Given the description of an element on the screen output the (x, y) to click on. 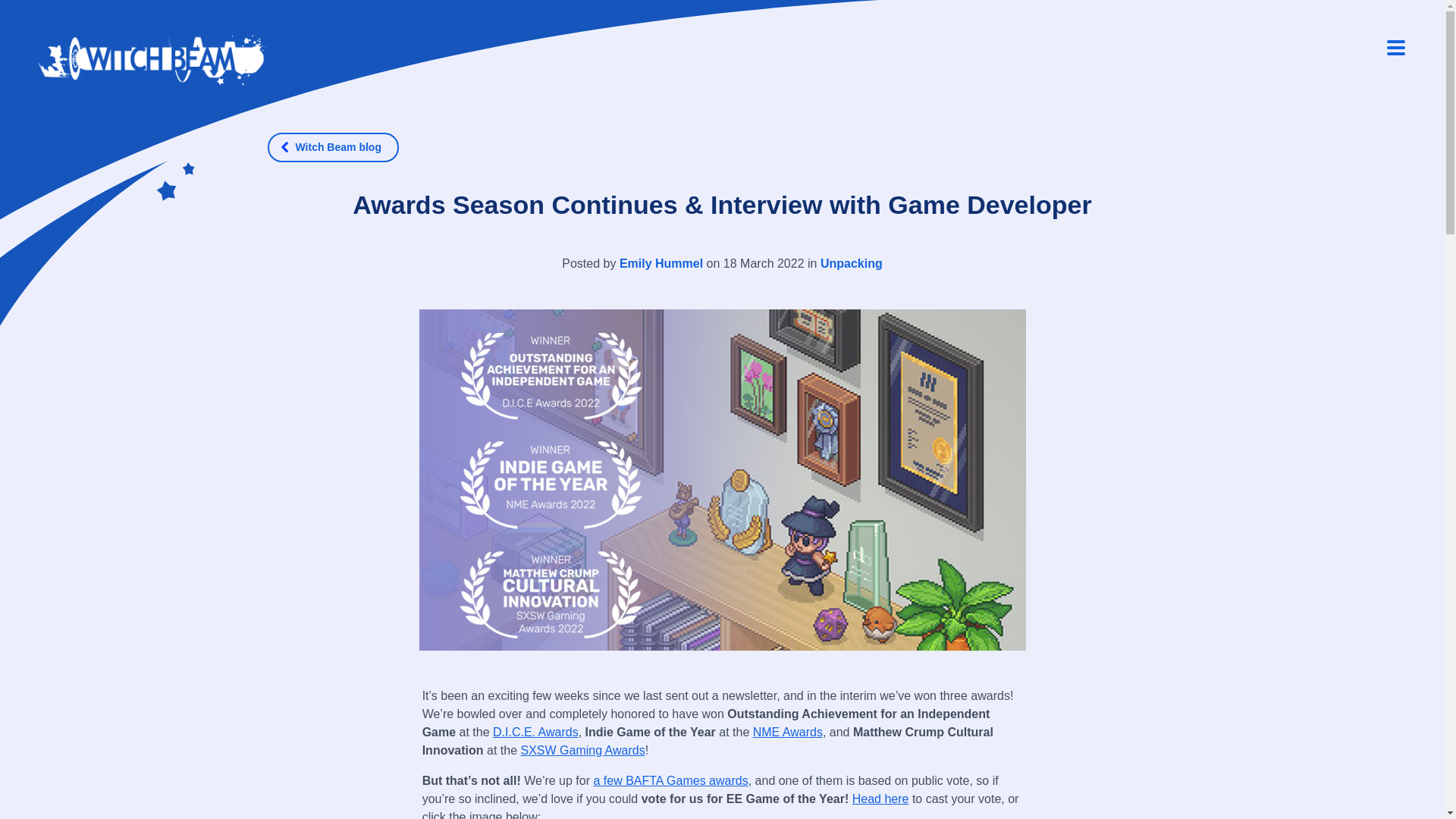
Emily Hummel (661, 263)
Open menu (1392, 47)
NME Awards (787, 731)
Posts by Emily Hummel (661, 263)
Head here (879, 798)
D.I.C.E. Awards (535, 731)
a few BAFTA Games awards (670, 780)
Unpacking (851, 263)
Witch Beam blog (331, 147)
SXSW Gaming Awards (582, 749)
